Given the description of an element on the screen output the (x, y) to click on. 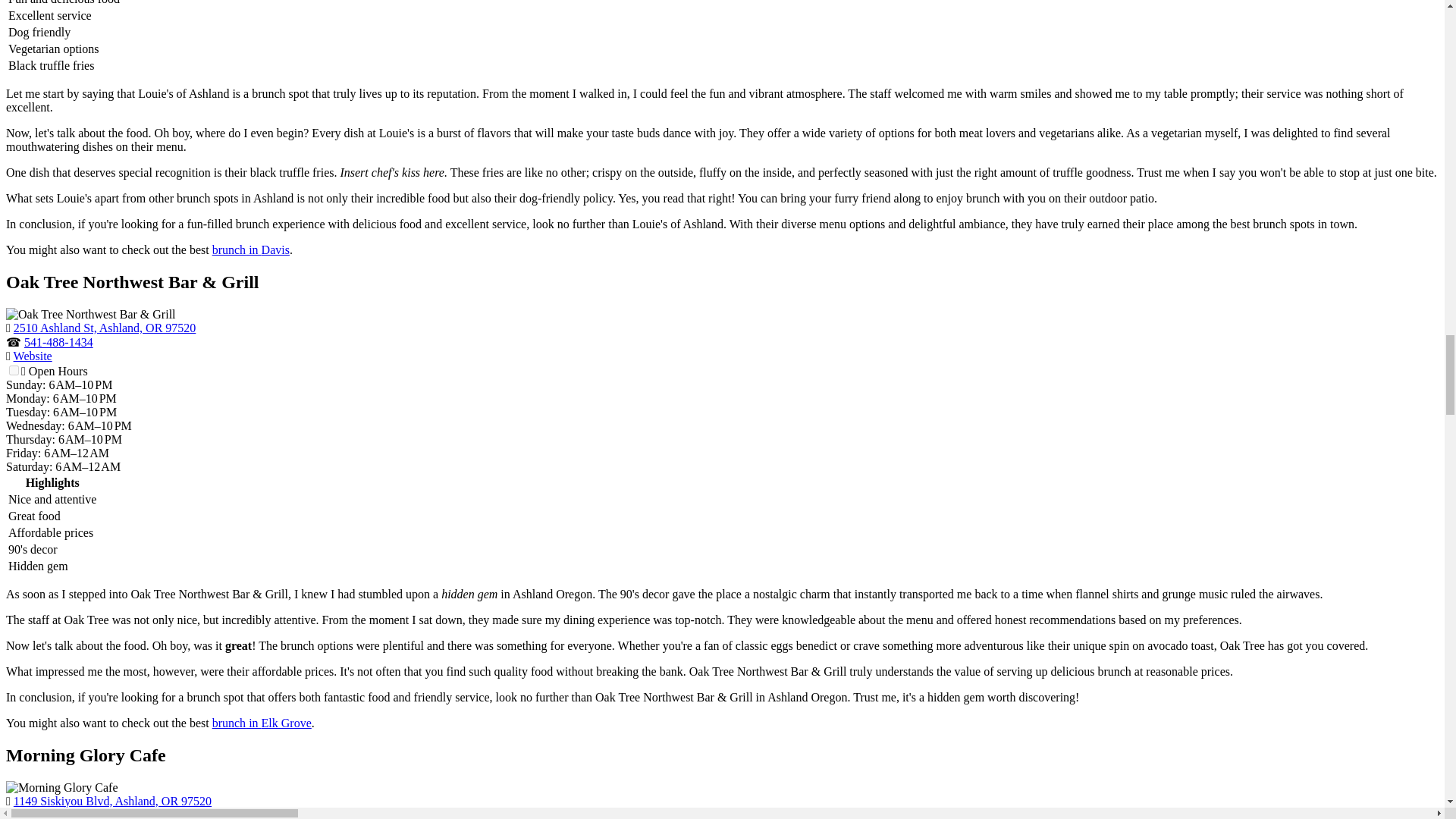
on (13, 370)
